Given the description of an element on the screen output the (x, y) to click on. 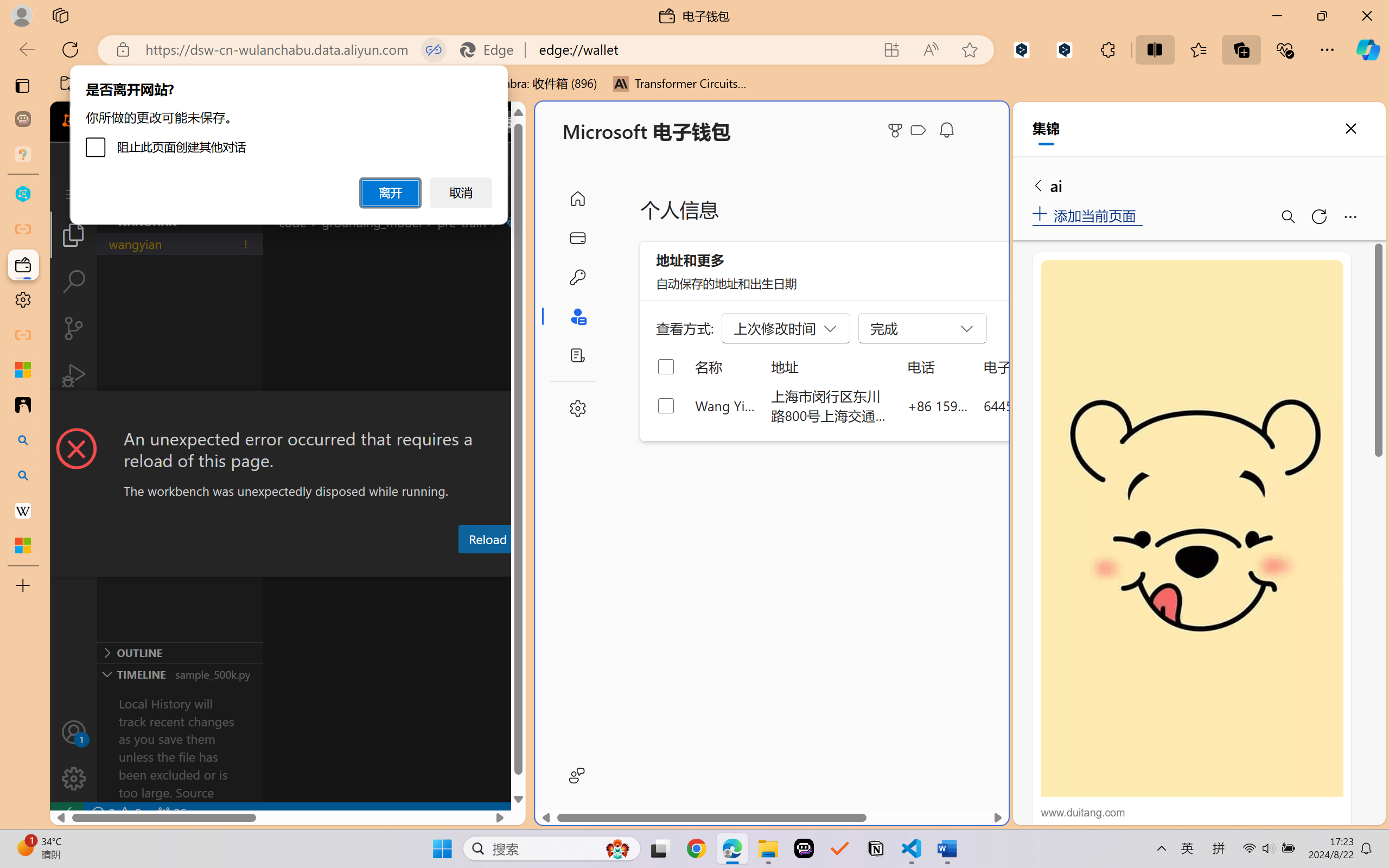
Debug Console (Ctrl+Shift+Y) (463, 565)
Microsoft Rewards (896, 129)
644553698@qq.com (1043, 405)
Run and Debug (Ctrl+Shift+D) (73, 375)
Microsoft Cashback (920, 130)
